Given the description of an element on the screen output the (x, y) to click on. 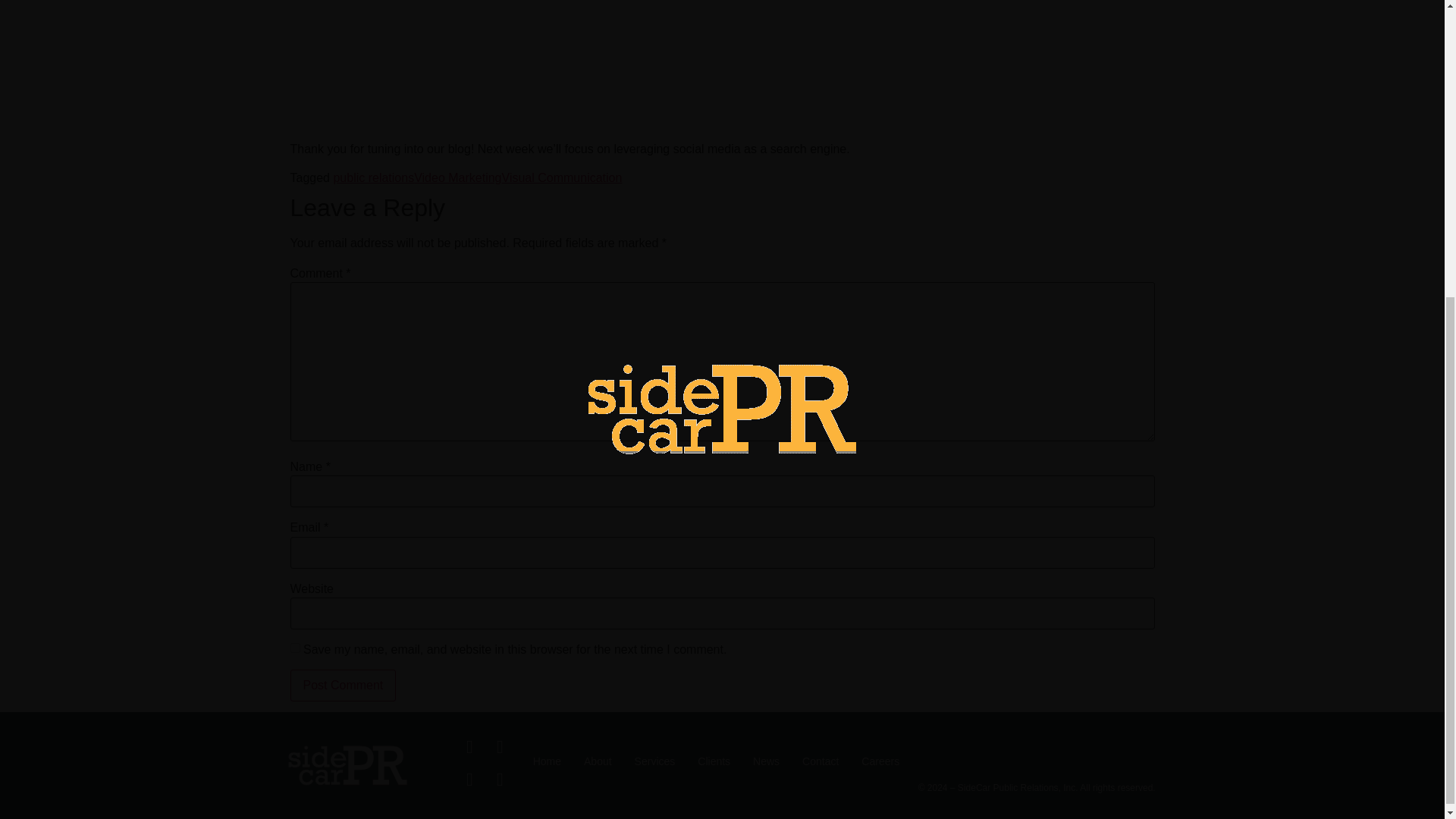
Services (643, 761)
Post Comment (342, 685)
About (585, 761)
Home (535, 761)
public relations (373, 177)
News (754, 761)
Post Comment (342, 685)
Clients (702, 761)
Careers (868, 761)
